Given the description of an element on the screen output the (x, y) to click on. 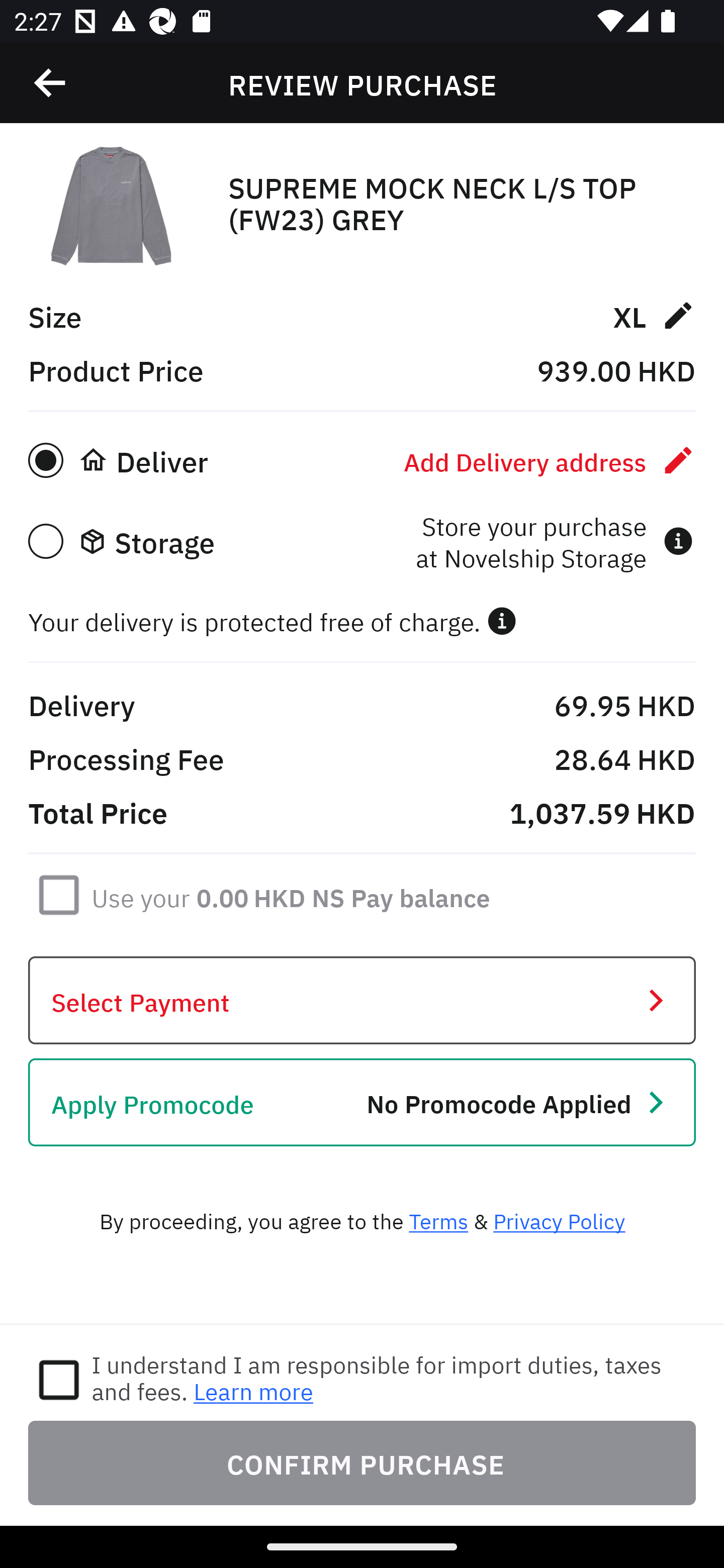
 (50, 83)
XL 󰏫 (654, 314)
󰚡 Deliver Add Delivery address 󰏫 (361, 459)
Add Delivery address 󰏫 (549, 460)
Store your purchase
at Novelship Storage  (554, 540)
 (501, 620)
Use your 0.00 HKD NS Pay balance (290, 894)
Select Payment  (361, 1000)
Apply Promocode No Promocode Applied  (361, 1102)
 CONFIRM PURCHASE (361, 1462)
